Given the description of an element on the screen output the (x, y) to click on. 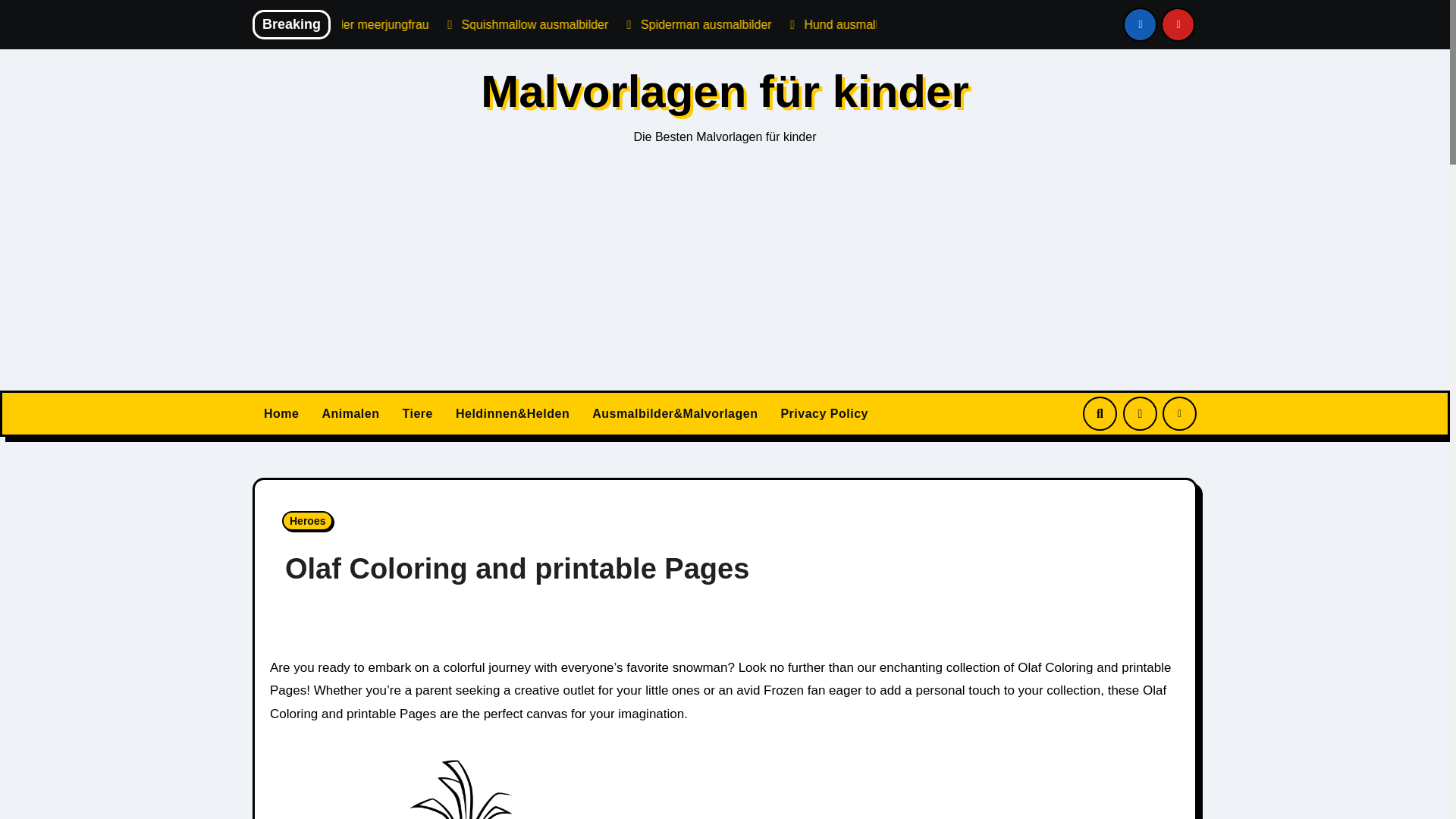
Animalen (350, 413)
Home (280, 413)
Privacy Policy (823, 413)
Spiderman ausmalbilder (851, 24)
Animalen (350, 413)
Tiere (417, 413)
Tiere (417, 413)
Supermario ausmalbilder (332, 24)
Ausmalbilder meerjungfrau (504, 24)
Home (280, 413)
